Given the description of an element on the screen output the (x, y) to click on. 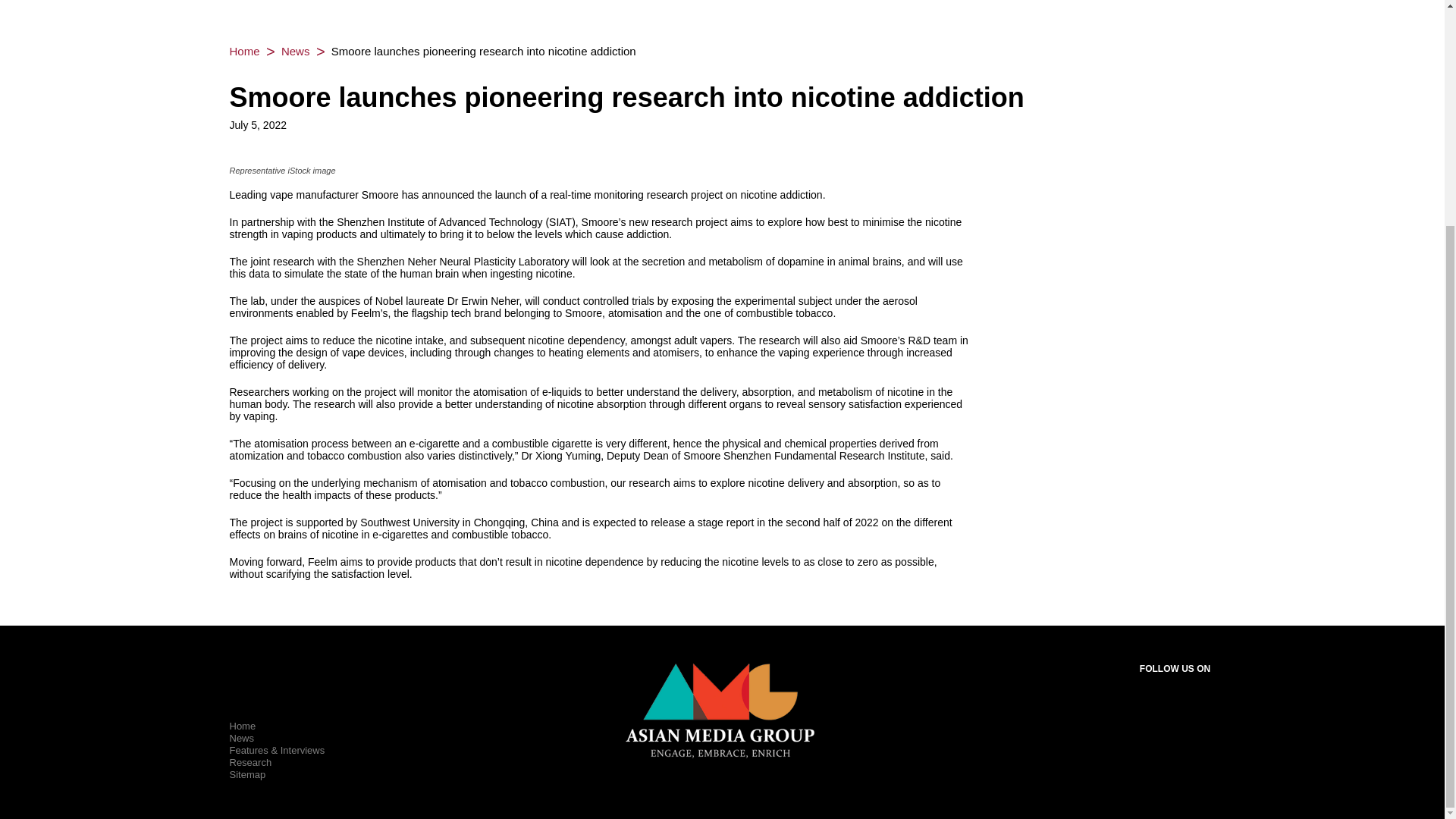
Sitemap (246, 774)
News (240, 737)
Home (243, 51)
View all posts in Entertainment (295, 51)
Home (242, 726)
Advertisement (721, 6)
Research (249, 762)
News (295, 51)
